Given the description of an element on the screen output the (x, y) to click on. 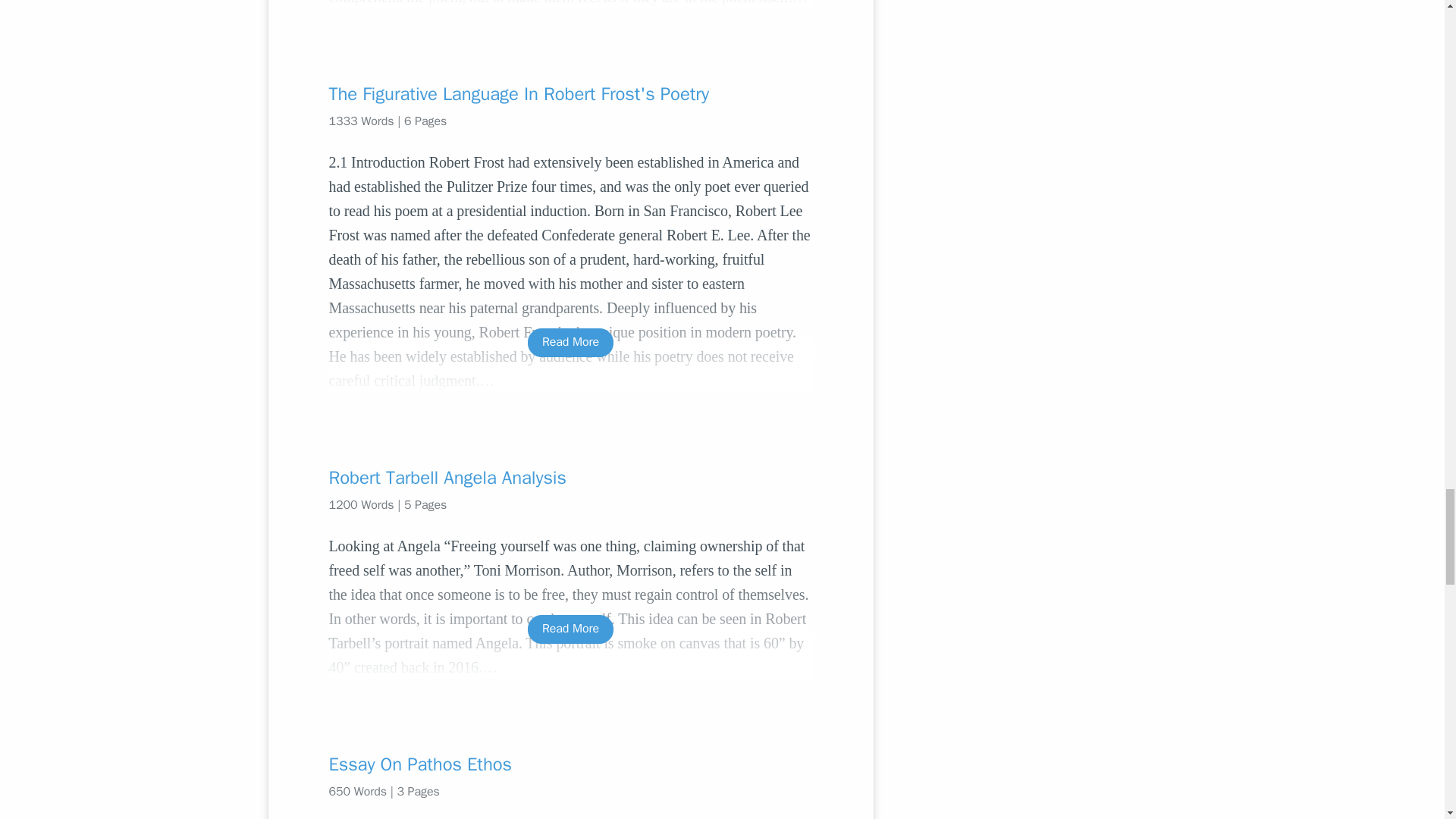
The Figurative Language In Robert Frost's Poetry (570, 93)
Read More (569, 342)
